Given the description of an element on the screen output the (x, y) to click on. 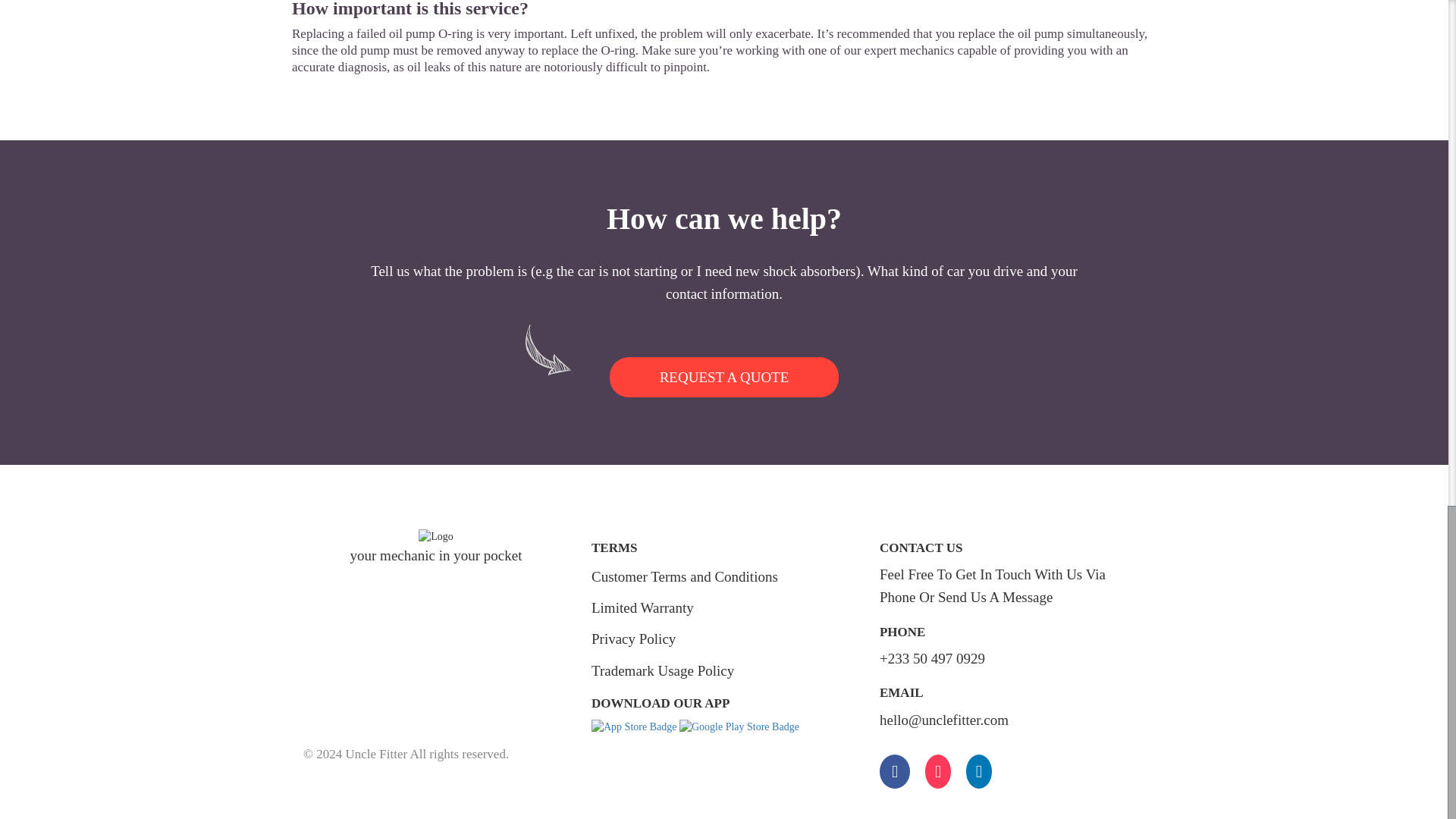
Trademark Usage Policy (662, 670)
Privacy Policy (633, 638)
Limited Warranty (642, 607)
REQUEST A QUOTE (725, 377)
Customer Terms and Conditions (684, 576)
